Given the description of an element on the screen output the (x, y) to click on. 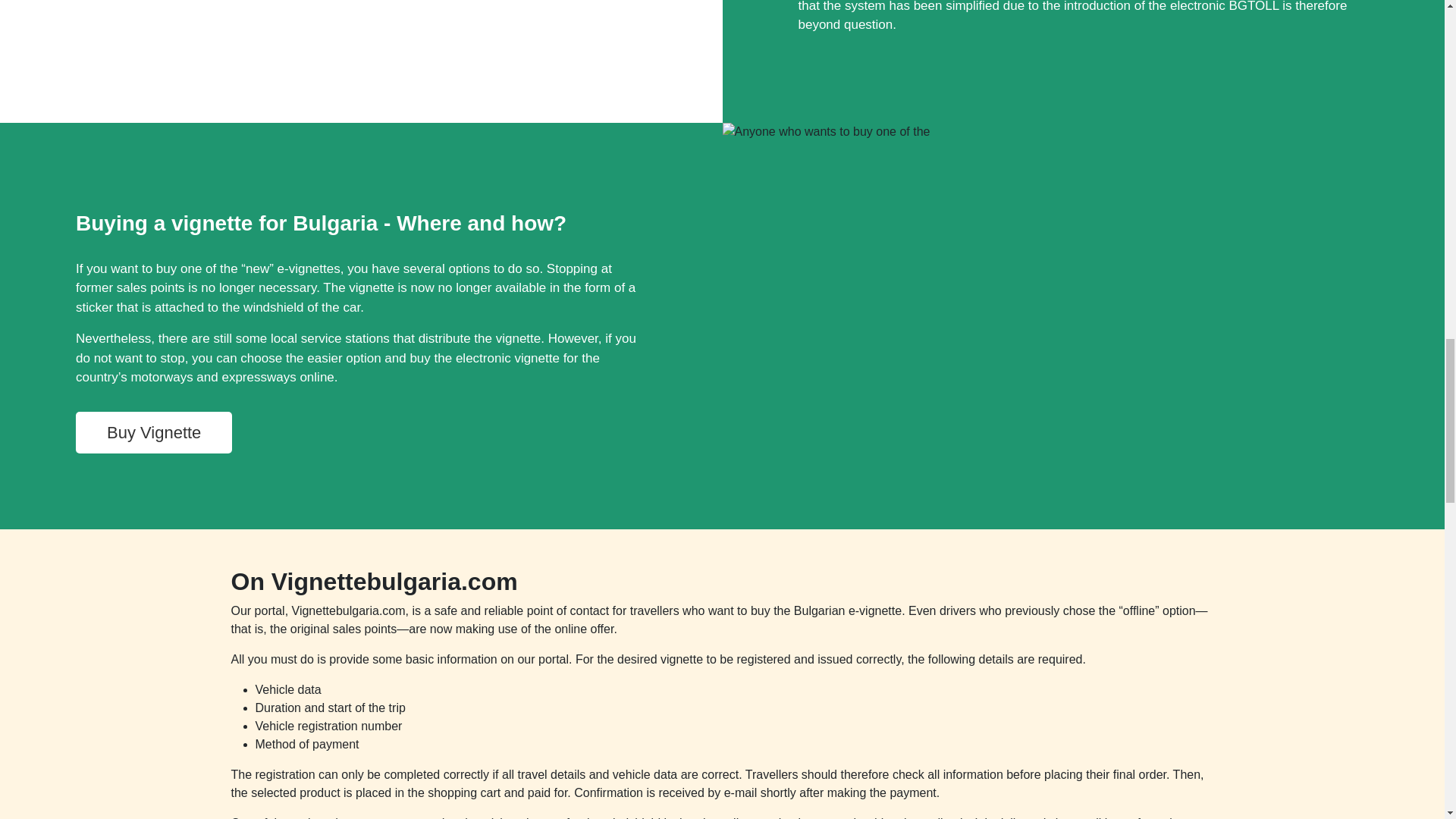
Buy Vignette (153, 432)
Electronic Vignette Bulgaria - Only electronic BGTOLL now (168, 61)
